Given the description of an element on the screen output the (x, y) to click on. 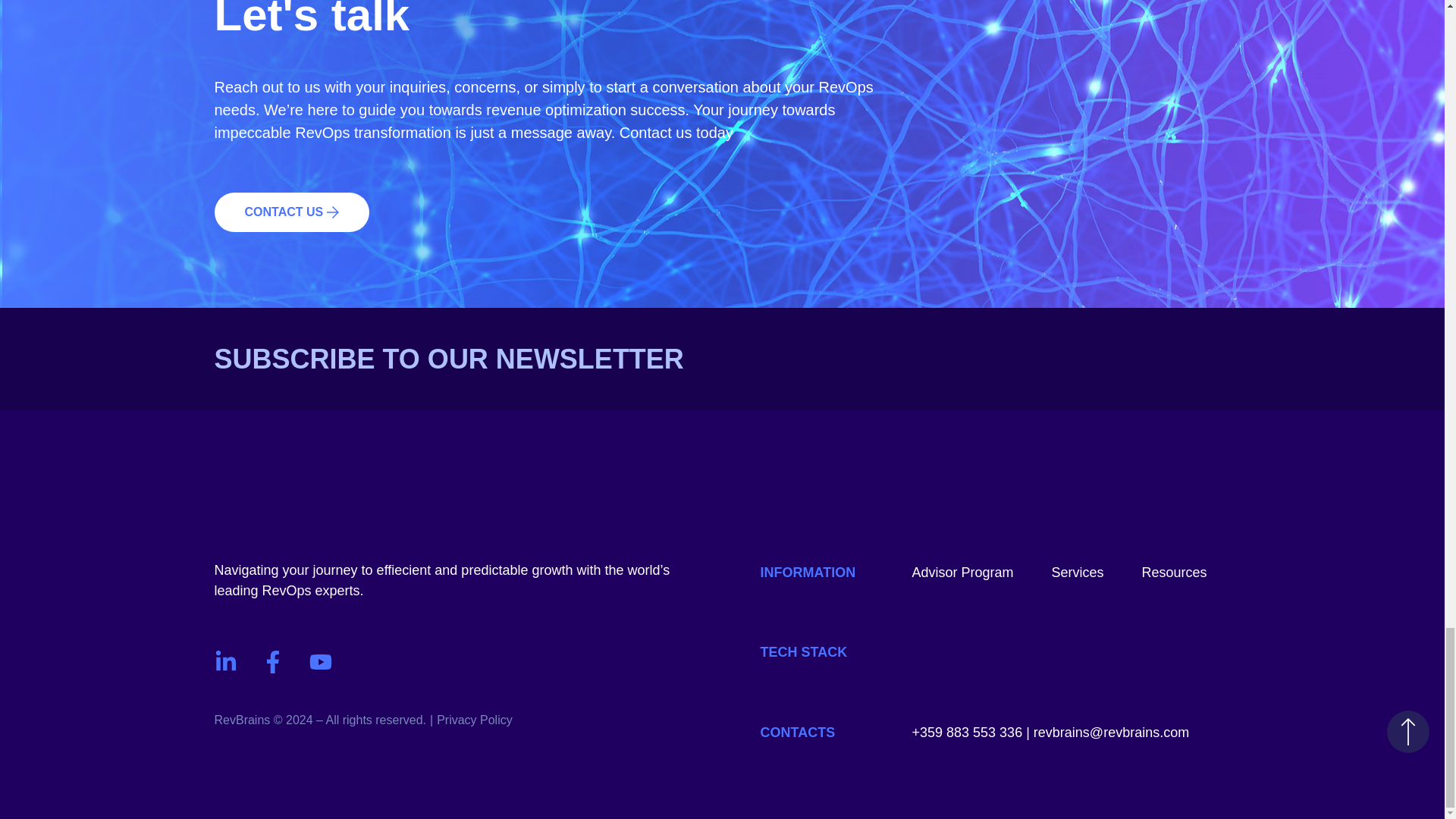
Resources (1174, 572)
Advisor Program (962, 572)
Services (1077, 572)
CONTACT US (291, 211)
Privacy Policy (474, 719)
